Given the description of an element on the screen output the (x, y) to click on. 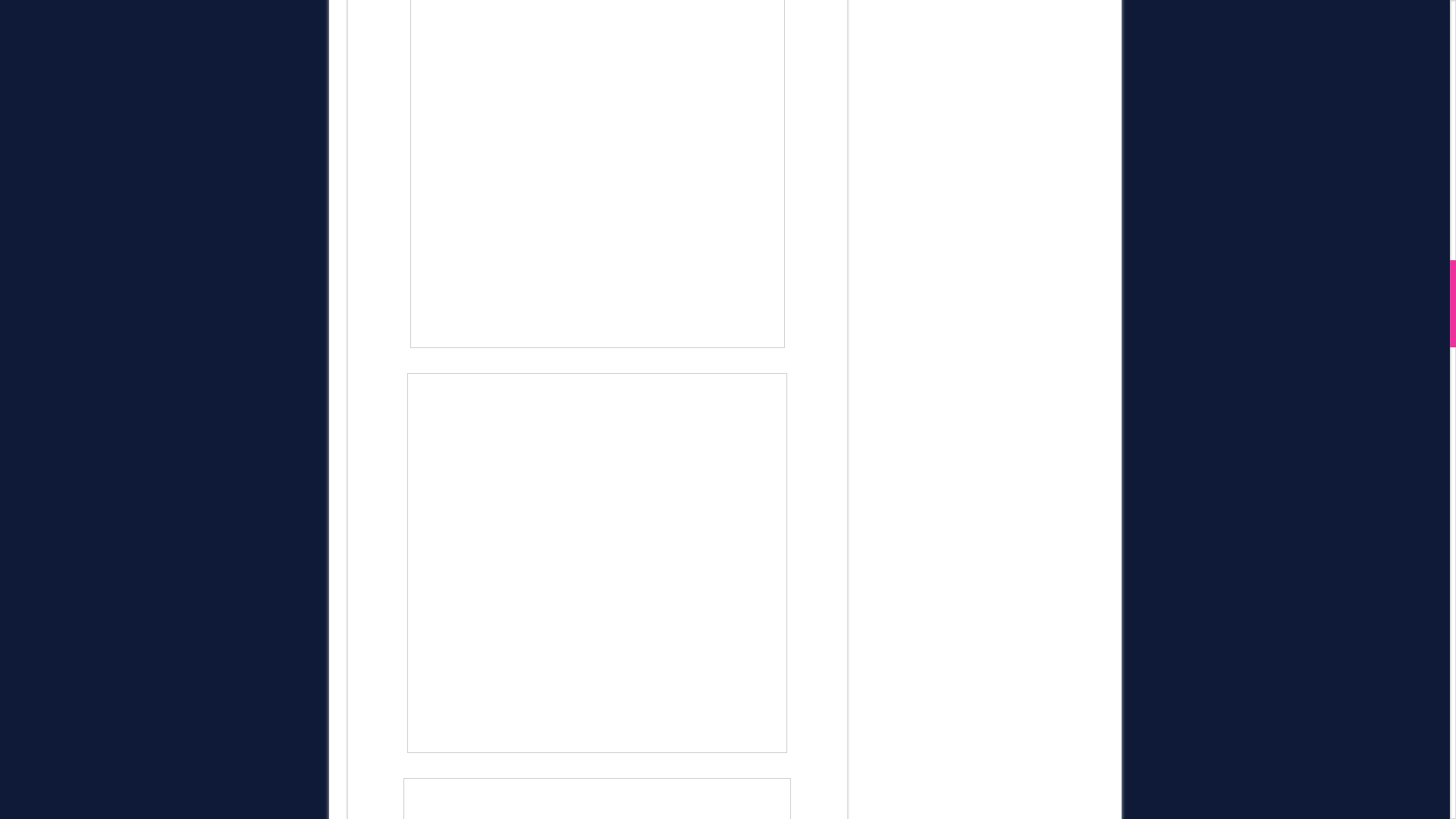
a5.jpg (596, 798)
